Given the description of an element on the screen output the (x, y) to click on. 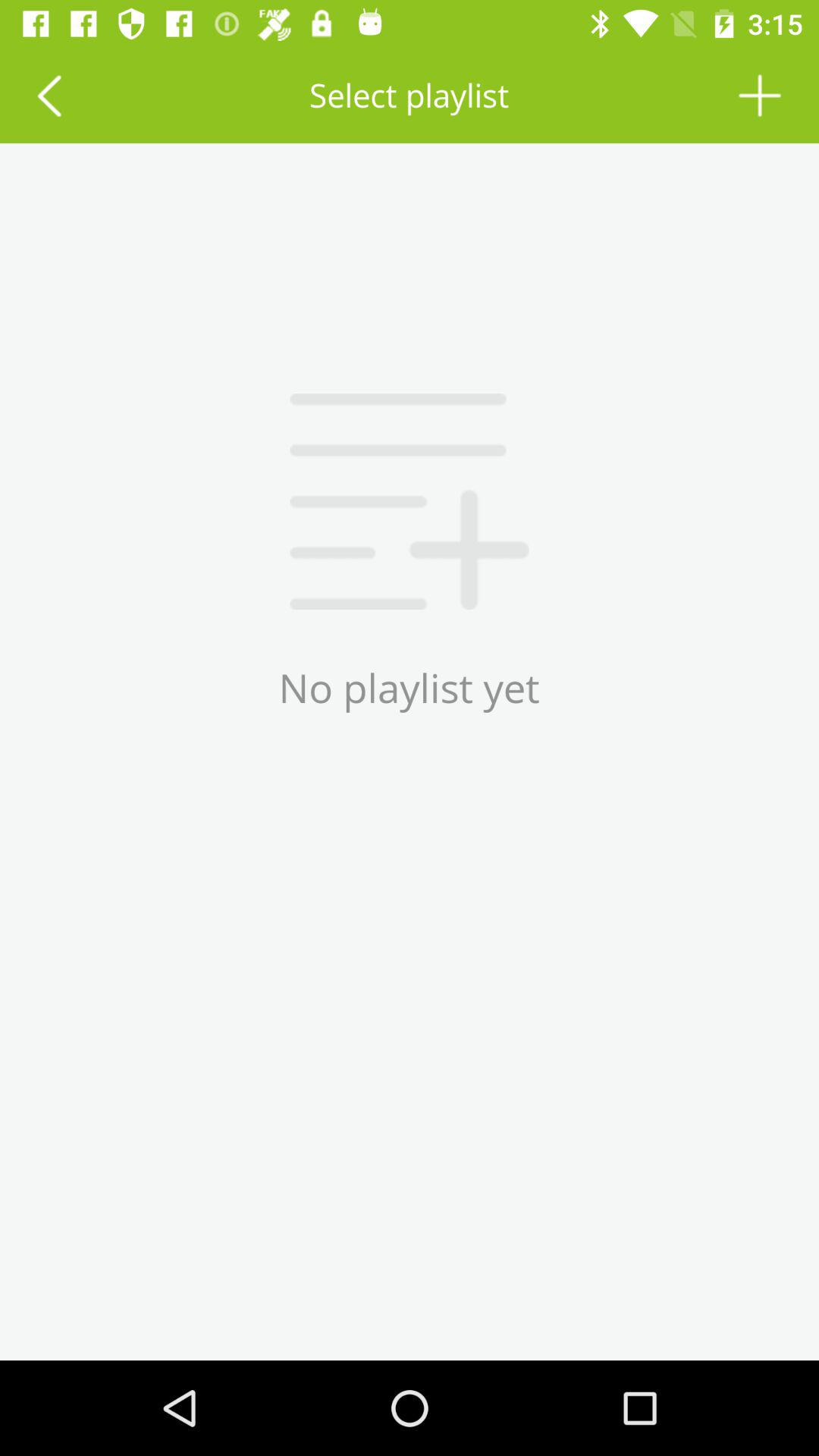
last playlist (48, 95)
